Given the description of an element on the screen output the (x, y) to click on. 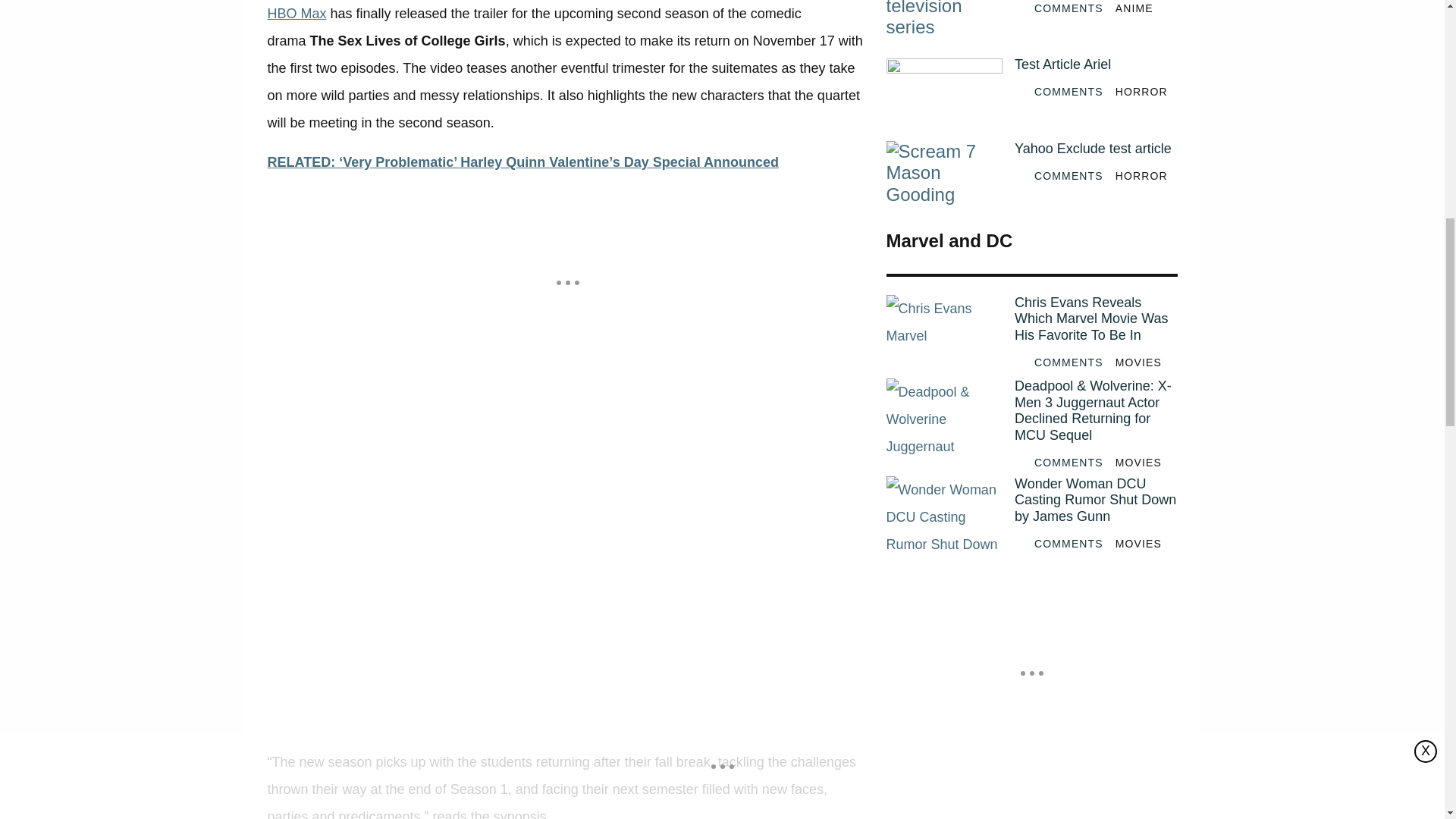
Wonder Woman DCU Casting Rumor Shut Down by James Gunn (944, 514)
Yahoo Exclude test article (1095, 149)
Test Article Ariel (944, 95)
Ariel Test Article Yahoo (944, 25)
Test Article Ariel (1095, 64)
Yahoo Exclude test article (944, 179)
Wonder Woman DCU Casting Rumor Shut Down by James Gunn (1095, 500)
